Given the description of an element on the screen output the (x, y) to click on. 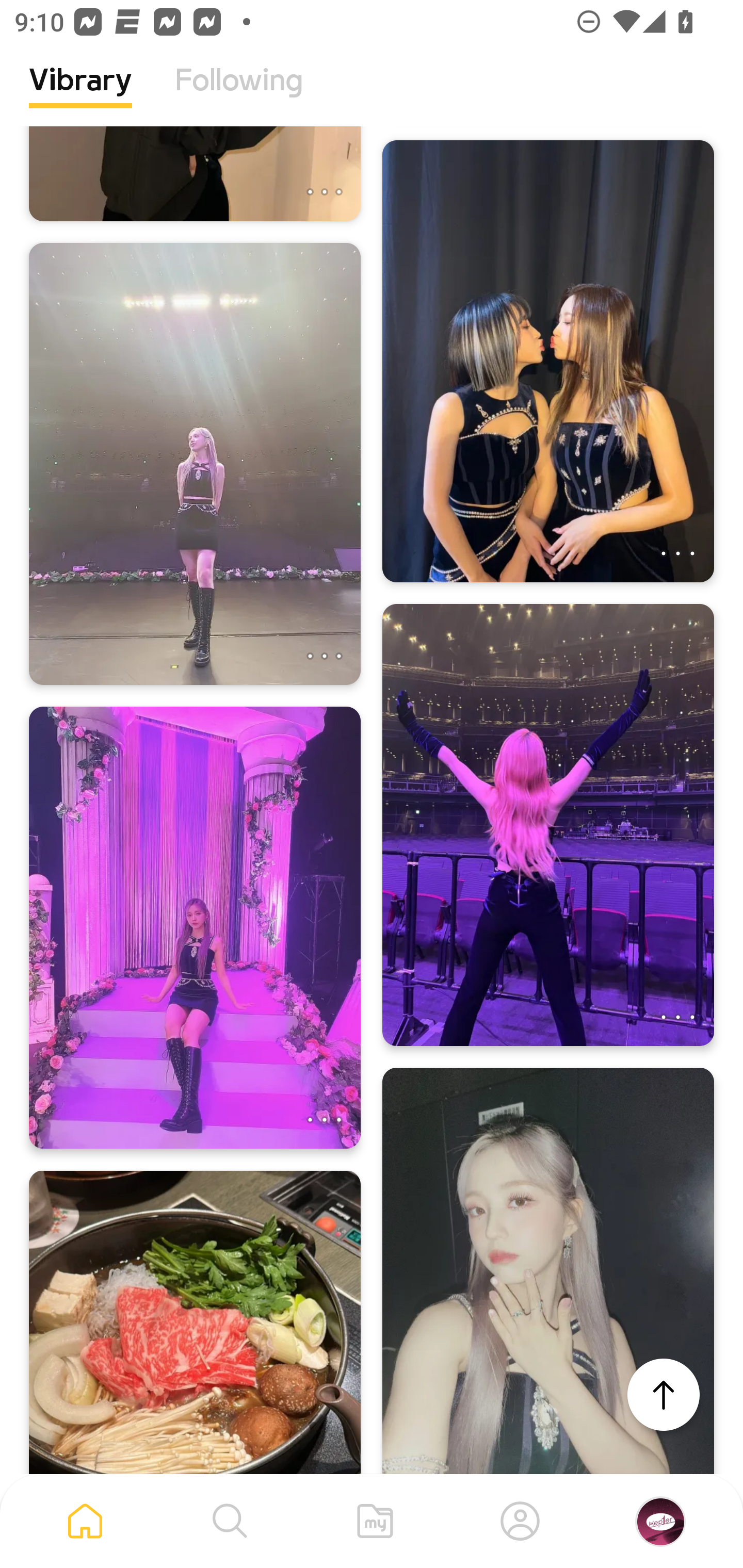
Vibrary (80, 95)
Following (239, 95)
